Given the description of an element on the screen output the (x, y) to click on. 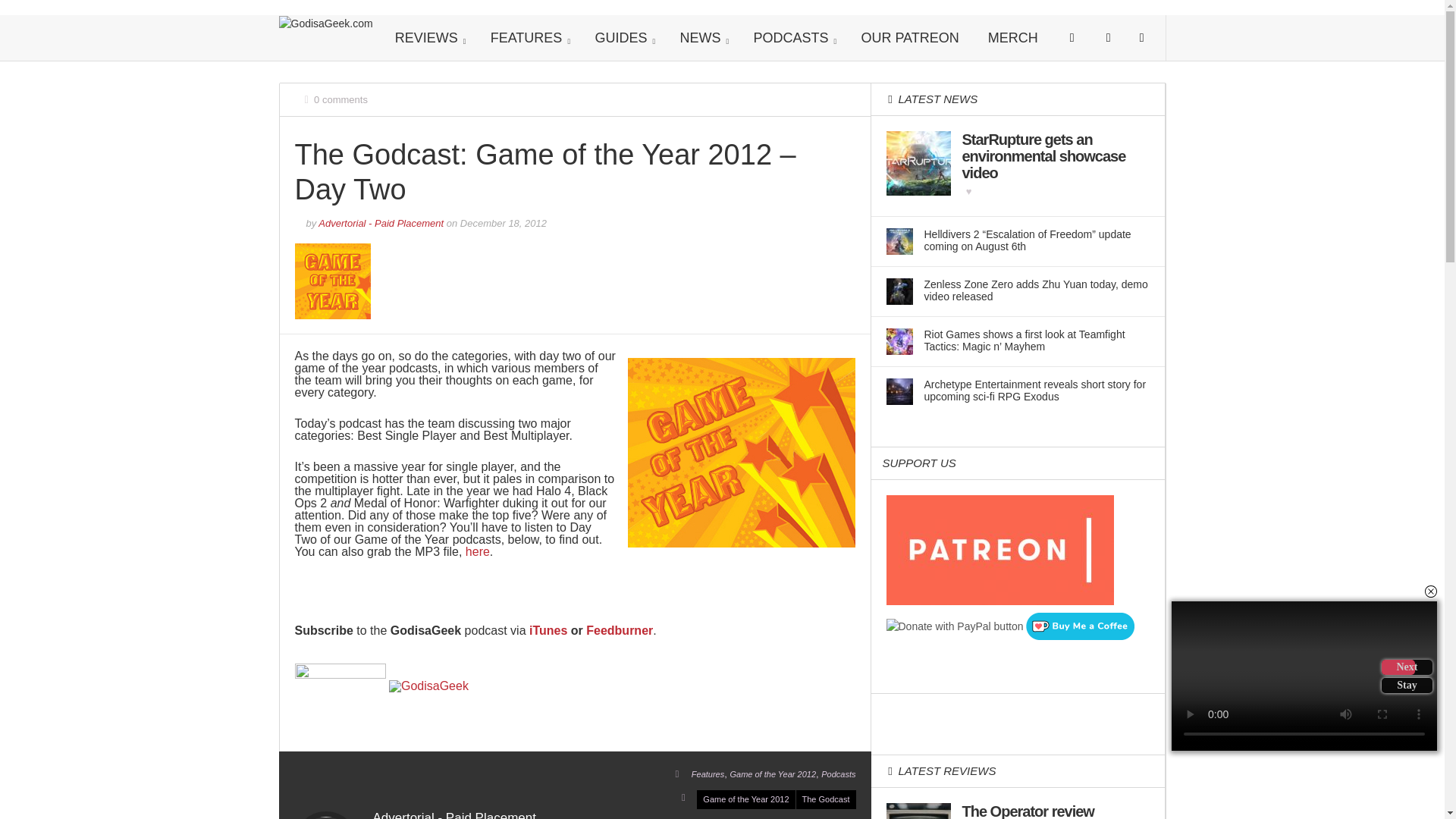
FEATURES (528, 37)
NEWS (701, 37)
REVIEWS (428, 37)
GUIDES (622, 37)
PODCASTS (791, 37)
